Given the description of an element on the screen output the (x, y) to click on. 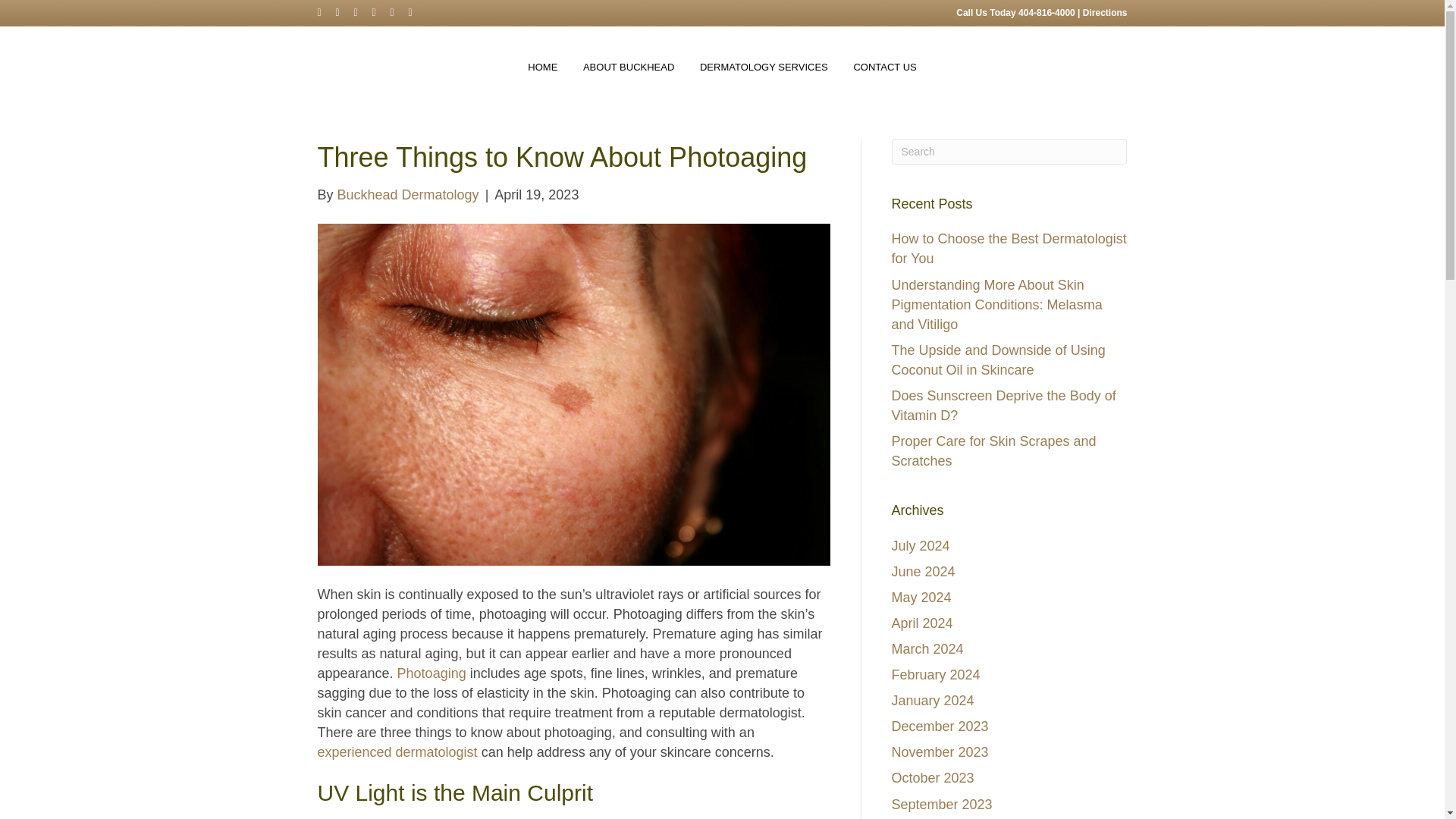
HOME (542, 67)
Google (343, 11)
ABOUT BUCKHEAD (628, 67)
Email (416, 11)
Directions (1104, 12)
Youtube (398, 11)
Google-maps (362, 11)
Type and press Enter to search. (1008, 151)
DERMATOLOGY SERVICES (764, 67)
Linkedin (380, 11)
Facebook (325, 11)
